Given the description of an element on the screen output the (x, y) to click on. 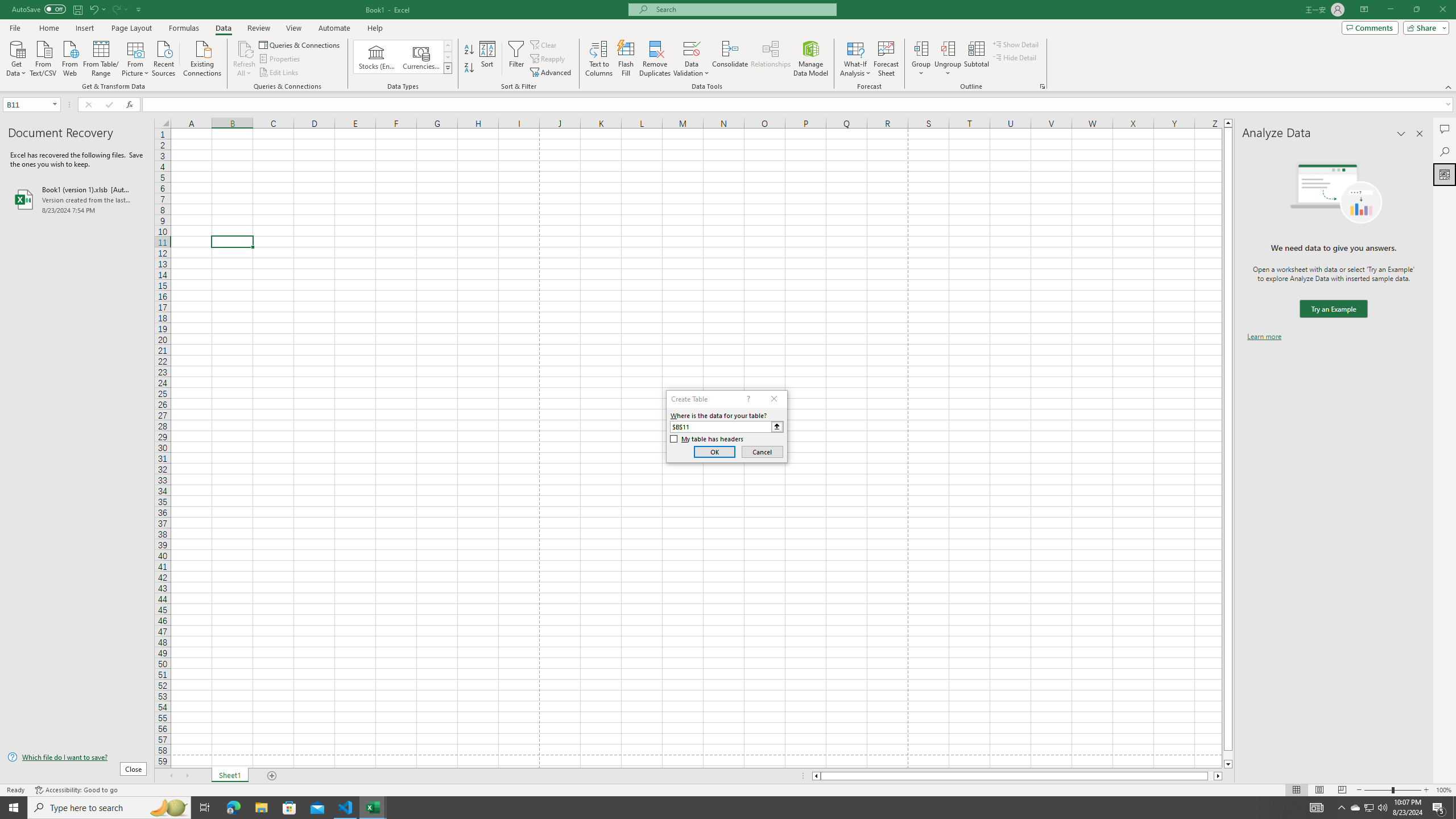
Advanced... (551, 72)
Existing Connections (202, 57)
